Given the description of an element on the screen output the (x, y) to click on. 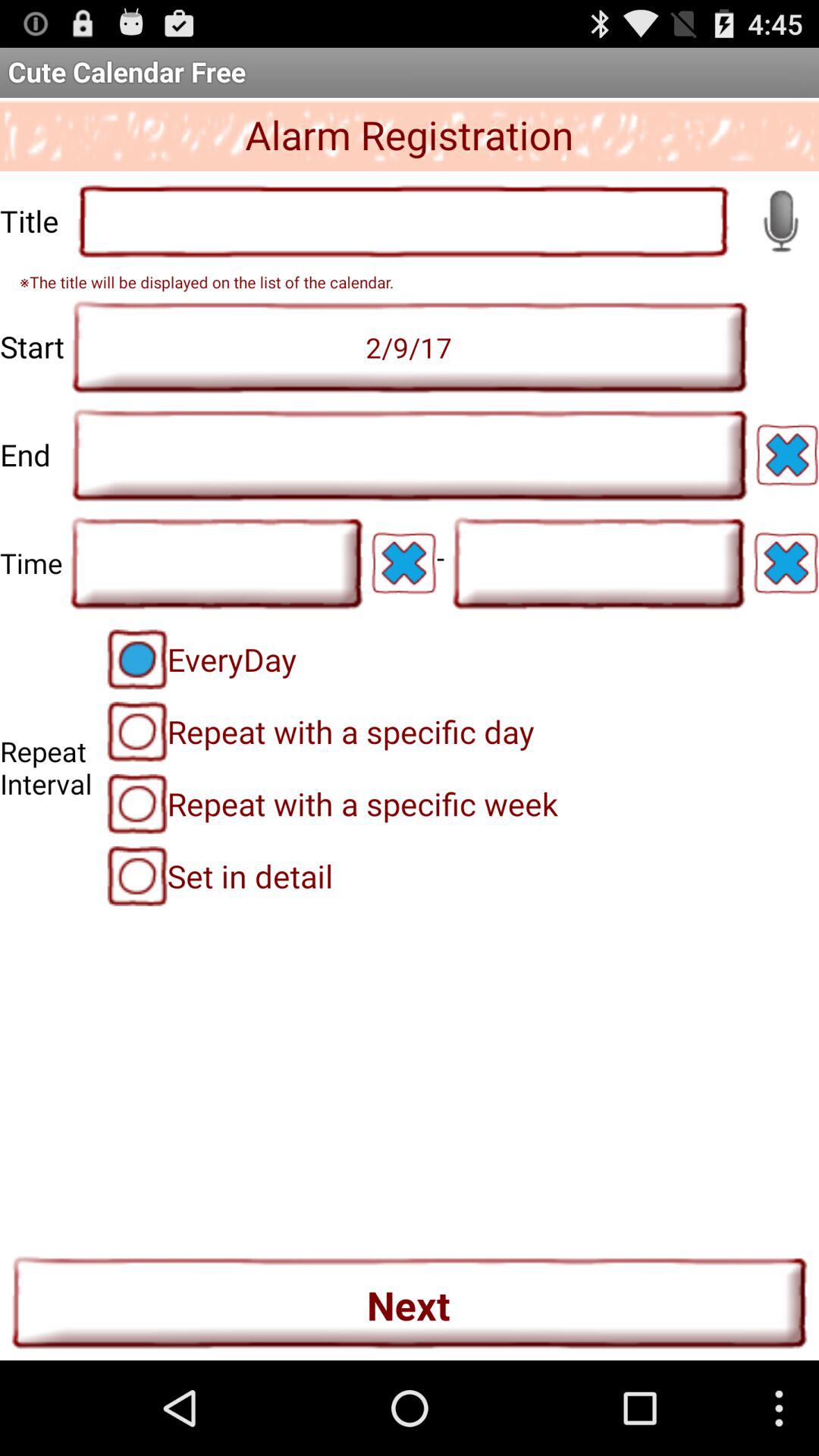
turn on app below the title will app (409, 346)
